Given the description of an element on the screen output the (x, y) to click on. 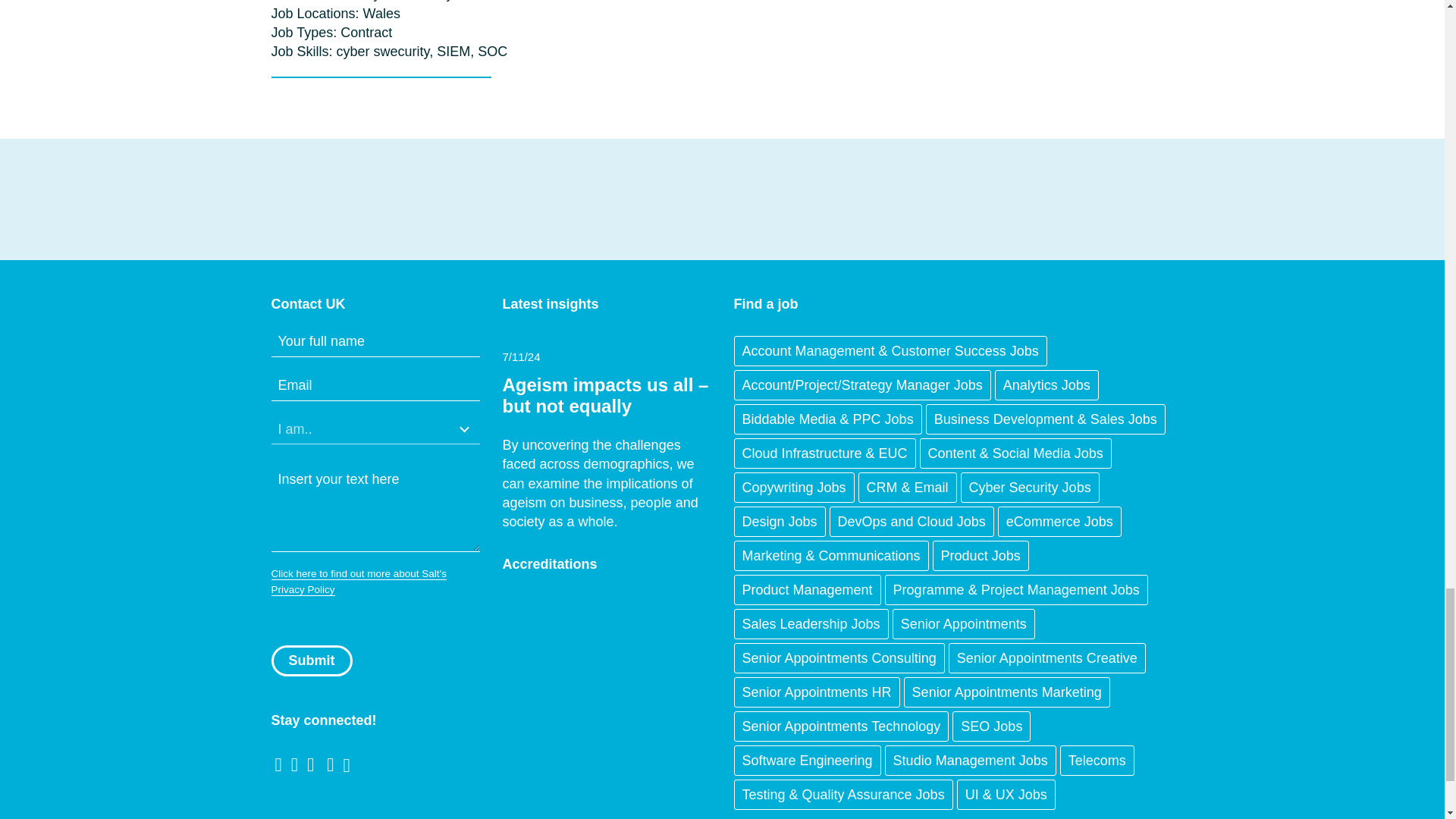
Submit (311, 660)
